Given the description of an element on the screen output the (x, y) to click on. 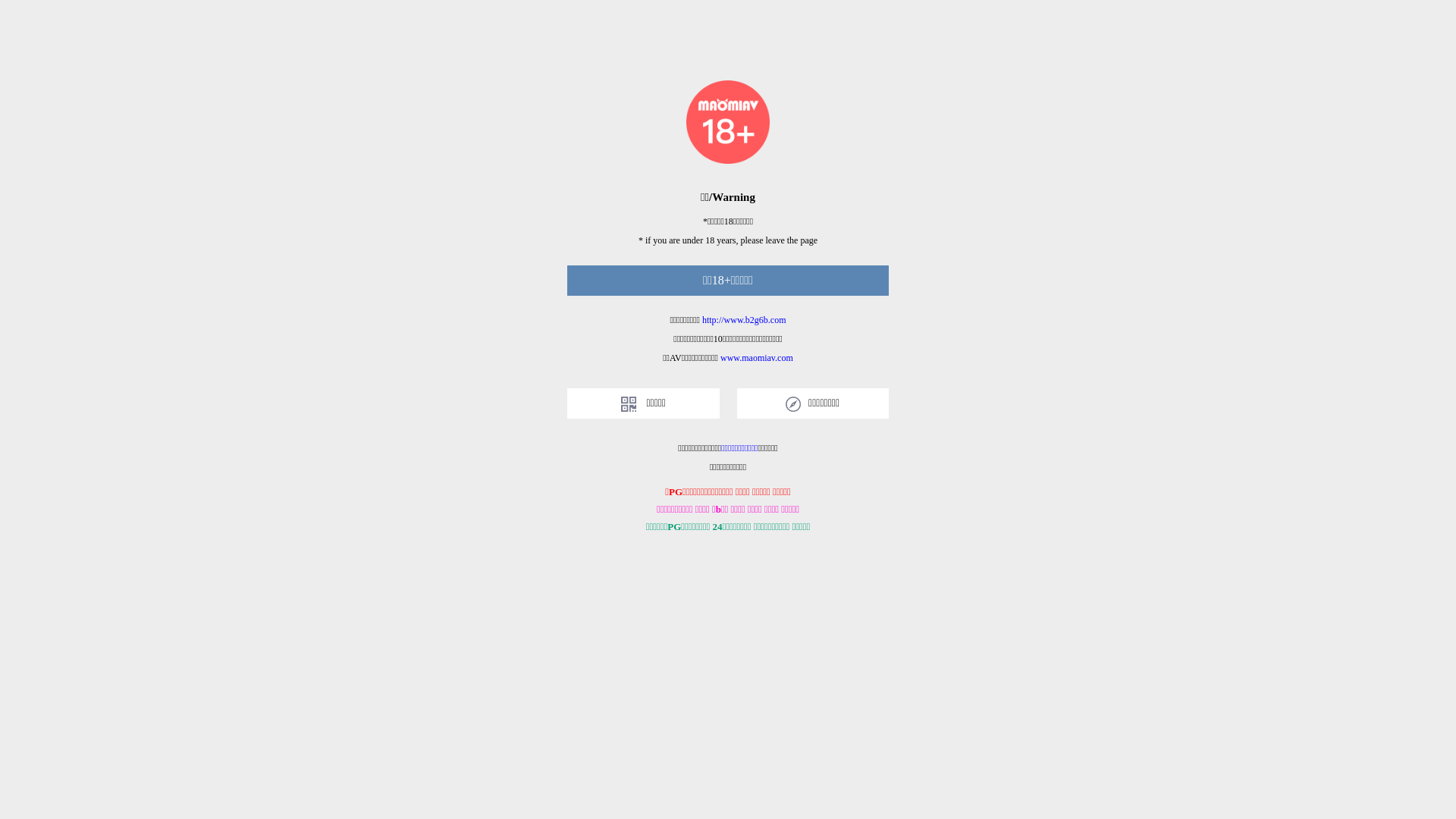
www.maomiav.com Element type: text (756, 357)
http://www.b2g6b.com Element type: text (744, 319)
